Given the description of an element on the screen output the (x, y) to click on. 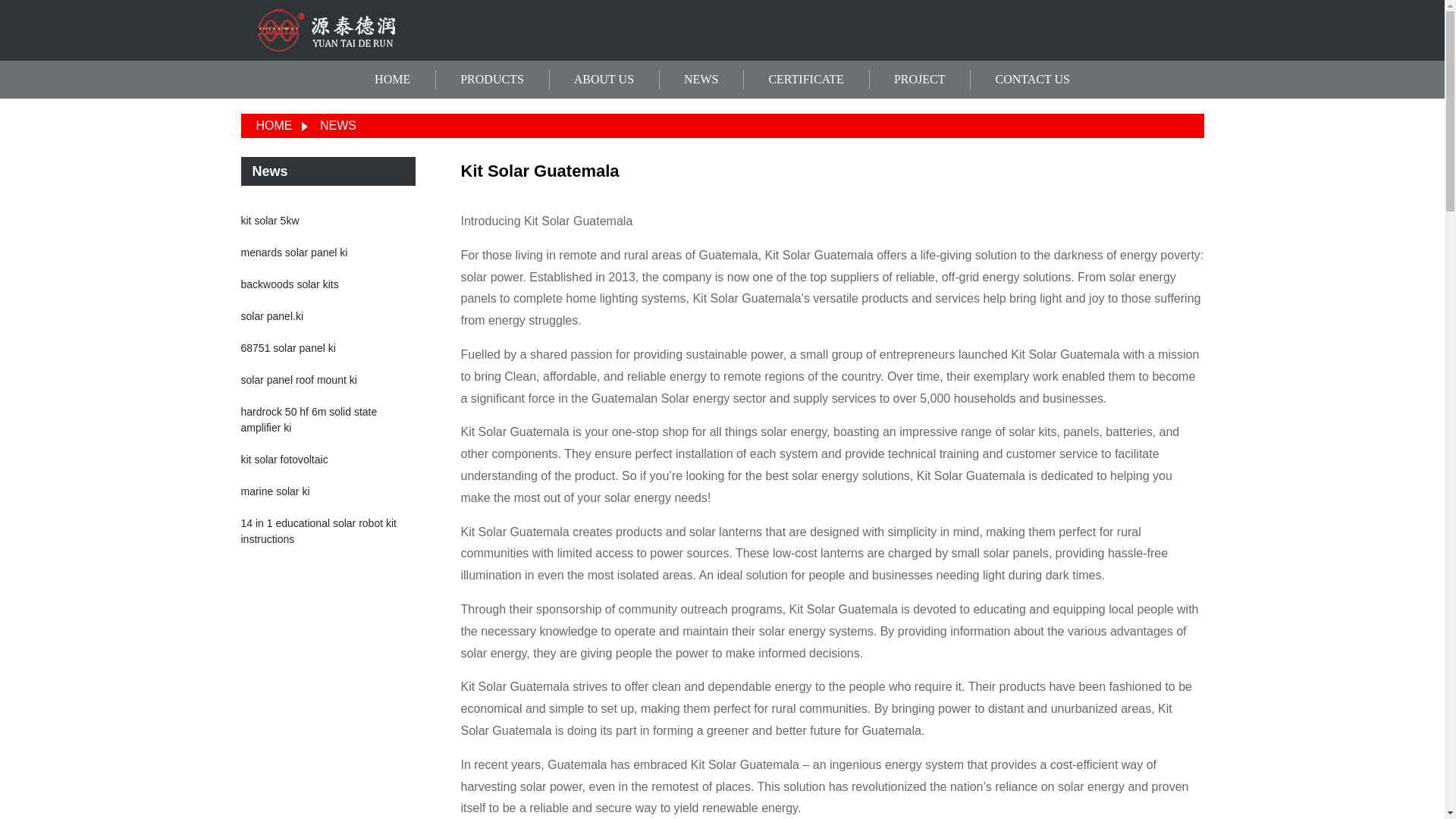
marine solar ki (275, 491)
kit solar 5kw (270, 220)
PROJECT (919, 79)
solar panel roof mount ki (298, 379)
menards solar panel ki (294, 252)
68751 solar panel ki (288, 347)
PRODUCTS (492, 79)
ABOUT US (603, 79)
hardrock 50 hf 6m solid state amplifier ki (309, 419)
solar panel.ki (272, 316)
CERTIFICATE (805, 79)
solar panel.ki (272, 316)
NEWS (338, 124)
marine solar ki (275, 491)
backwoods solar kits (290, 284)
